Given the description of an element on the screen output the (x, y) to click on. 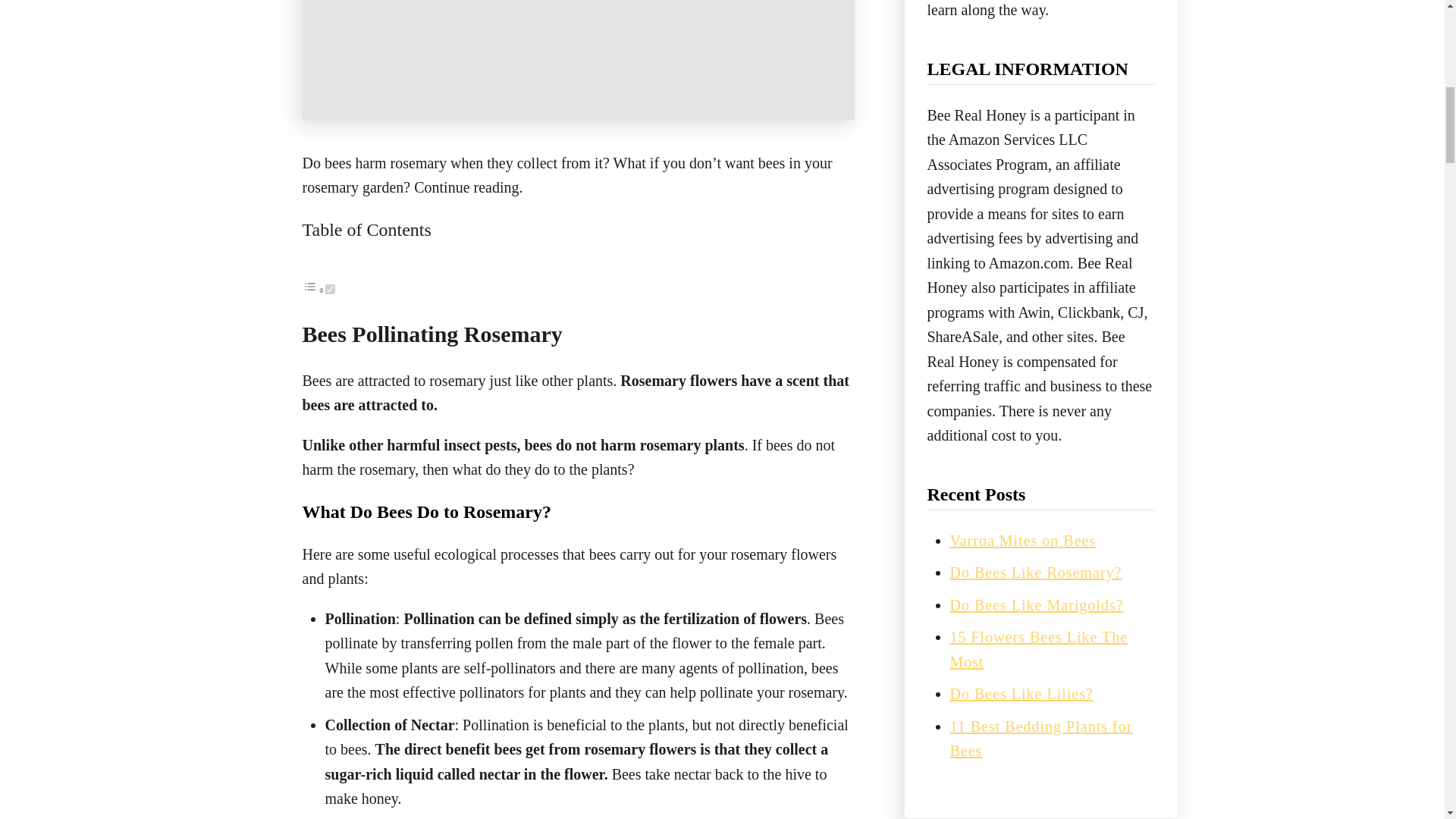
on (329, 289)
